Given the description of an element on the screen output the (x, y) to click on. 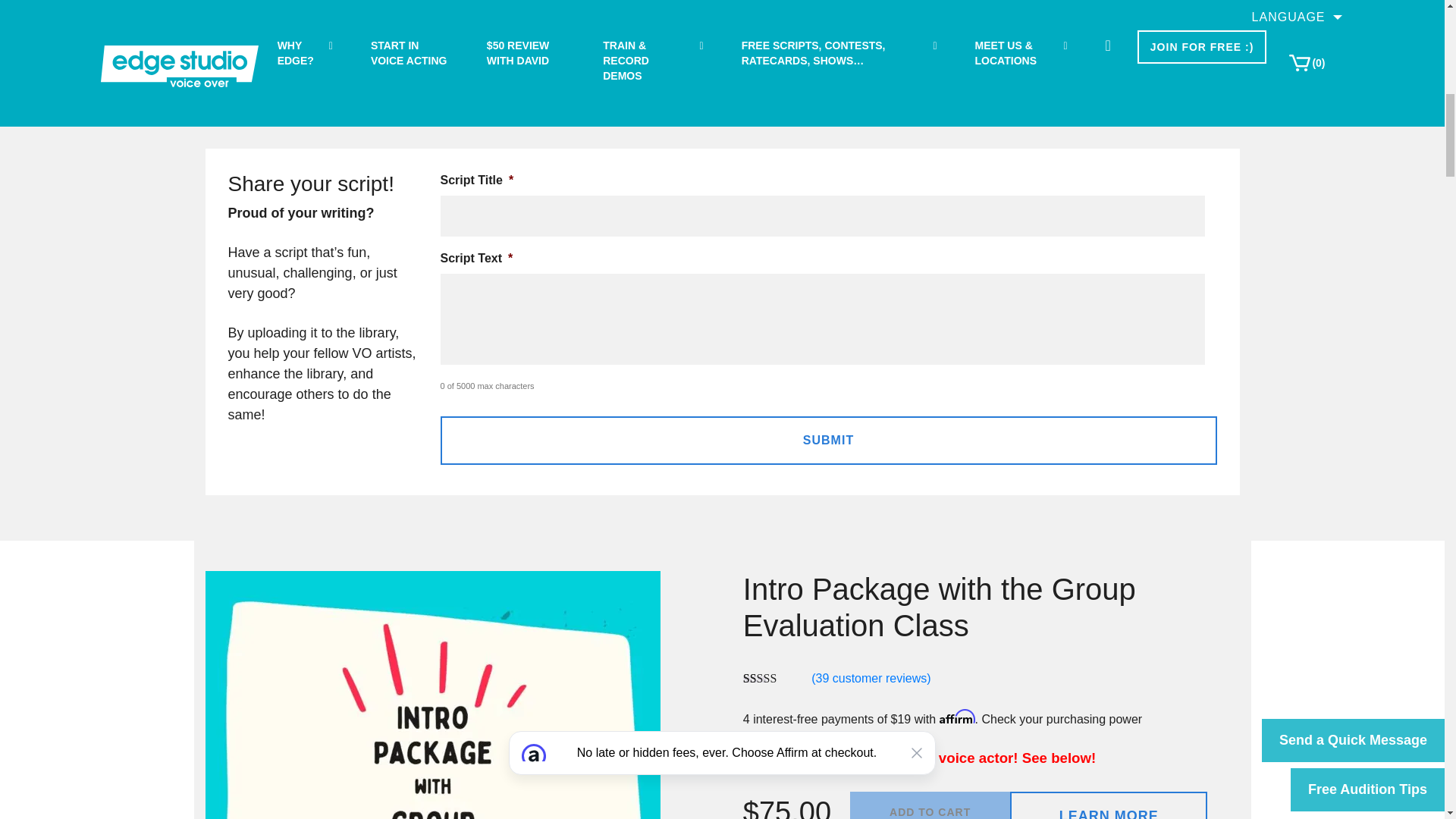
306B652C-6037-441E-9606-20F954D996B4 (432, 694)
Submit (827, 440)
